Given the description of an element on the screen output the (x, y) to click on. 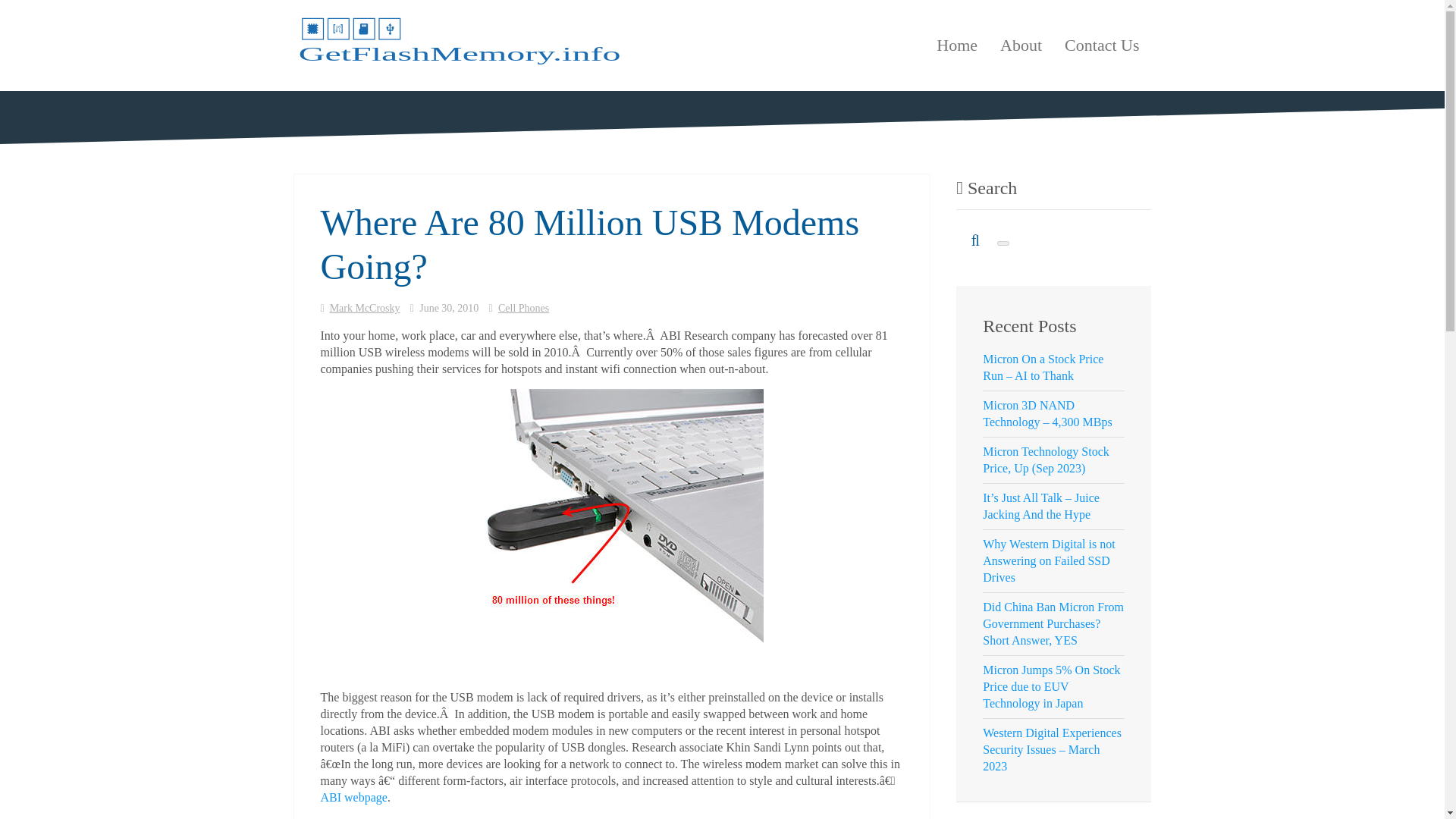
Reset (1003, 242)
ABI webpage (353, 797)
Mark McCrosky (365, 307)
Mark McCrosky (365, 307)
Cell Phones (522, 307)
Contact Us (1101, 45)
Why Western Digital is not Answering on Failed SSD Drives (1048, 560)
